Given the description of an element on the screen output the (x, y) to click on. 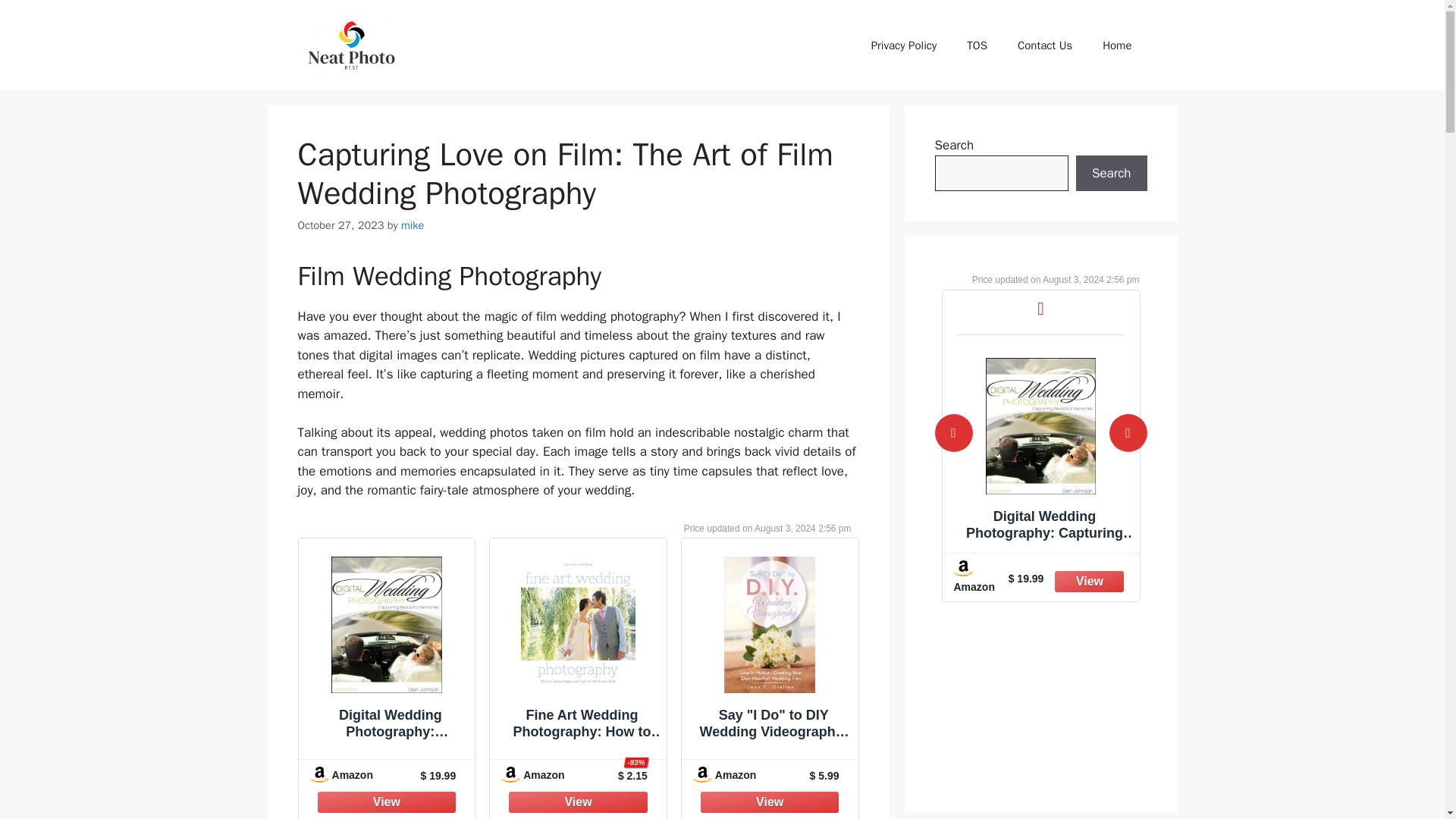
mike (412, 224)
Privacy Policy (904, 44)
Contact Us (1045, 44)
View all posts by mike (412, 224)
TOS (977, 44)
Home (1117, 44)
